Given the description of an element on the screen output the (x, y) to click on. 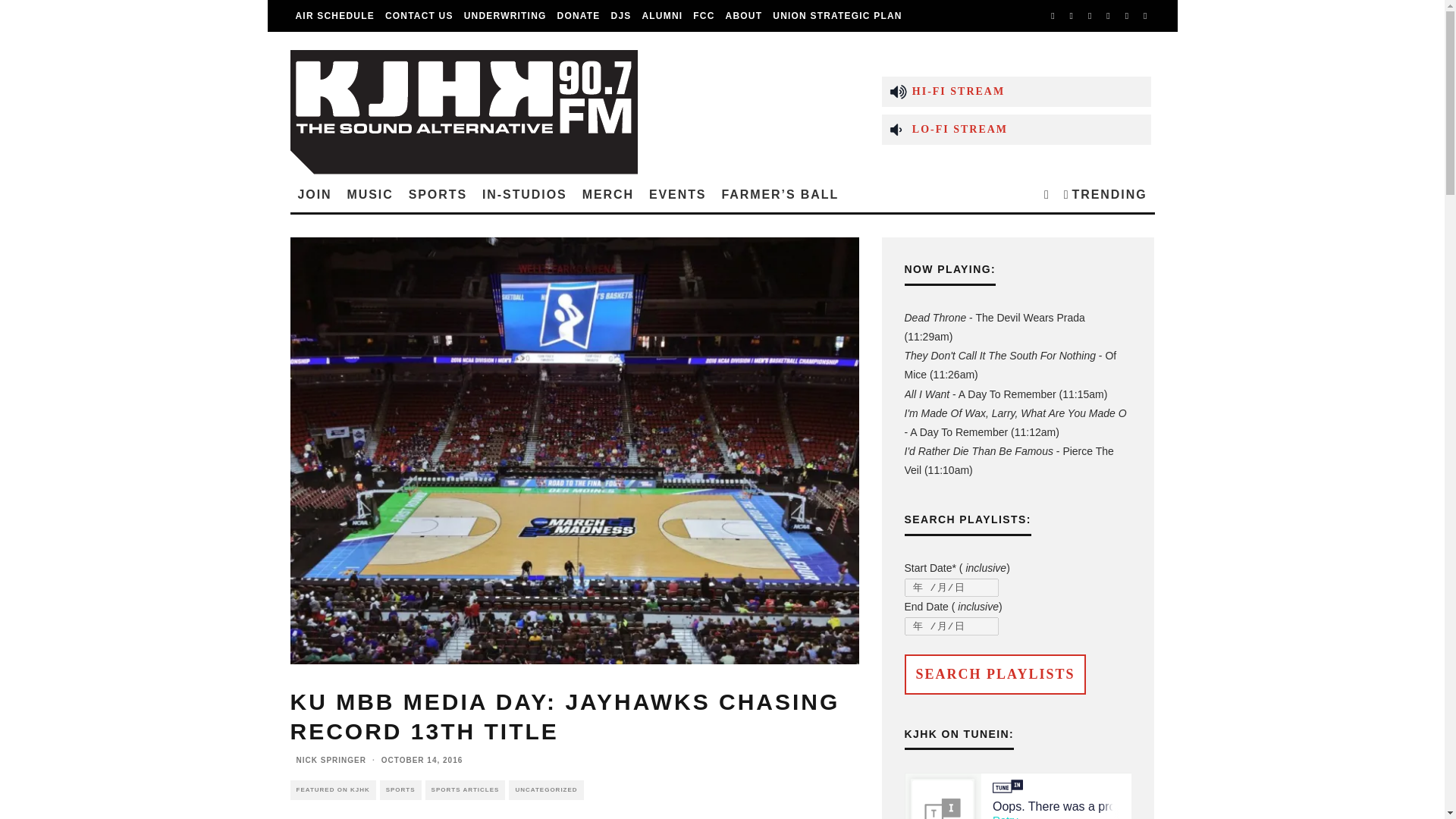
ABOUT (744, 15)
UNDERWRITING (504, 15)
DJS (621, 15)
DONATE (578, 15)
HI-FI STREAM (1016, 91)
ALUMNI (661, 15)
FCC (703, 15)
LO-FI STREAM (1016, 128)
AIR SCHEDULE (333, 15)
CONTACT US (419, 15)
JOIN (314, 194)
UNION STRATEGIC PLAN (837, 15)
